Given the description of an element on the screen output the (x, y) to click on. 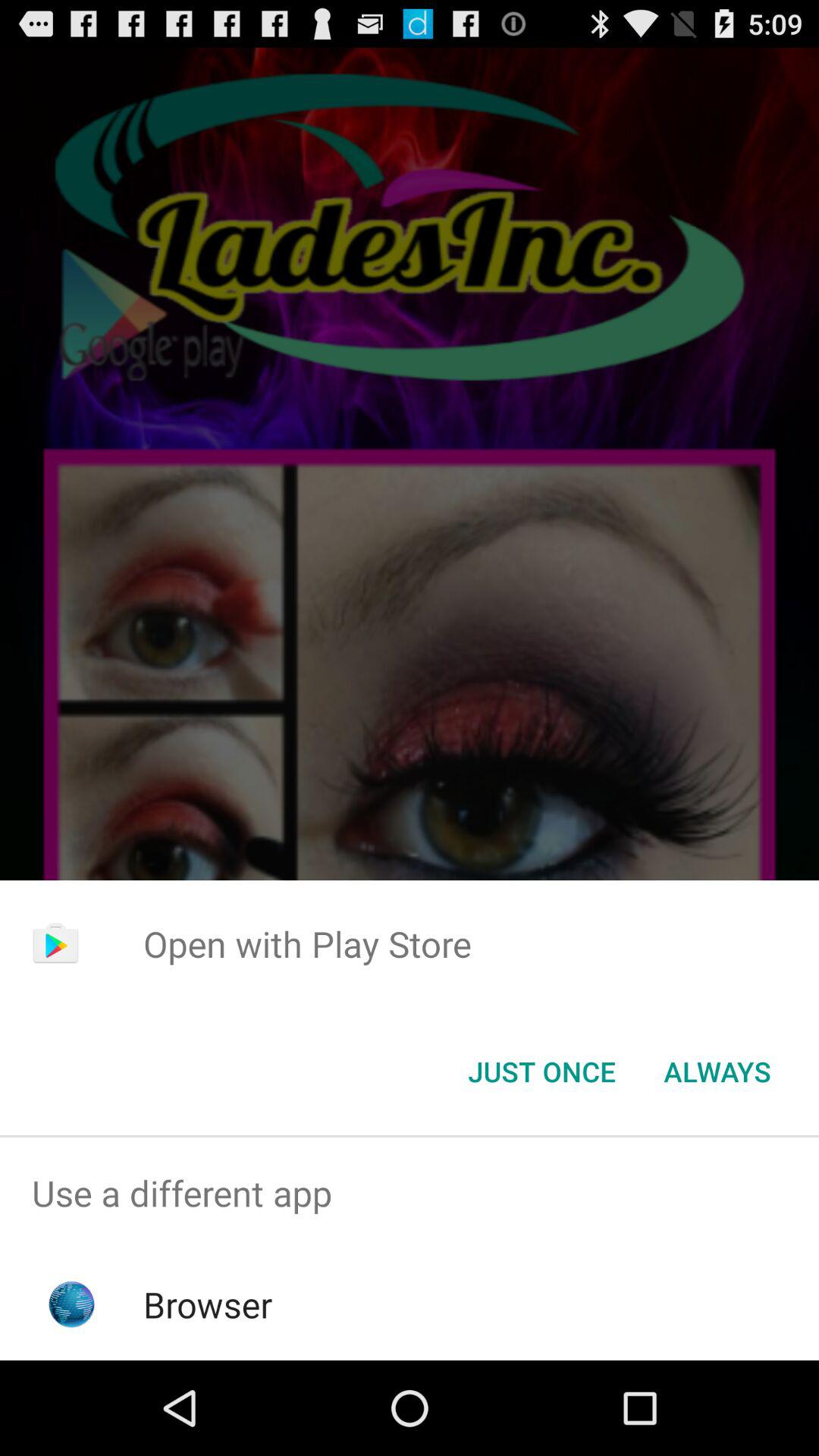
tap use a different item (409, 1192)
